Given the description of an element on the screen output the (x, y) to click on. 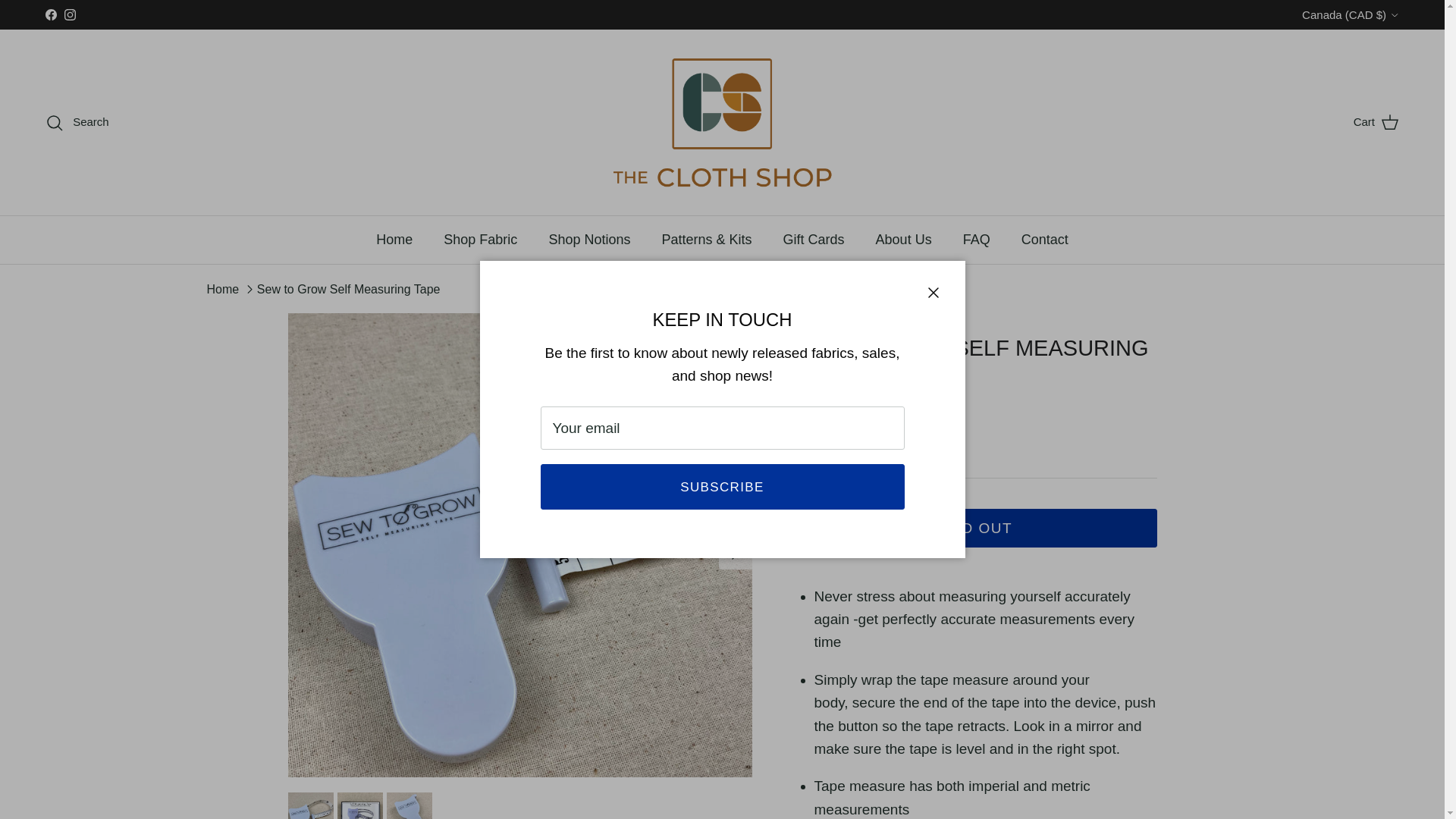
Search (77, 122)
Instagram (69, 14)
The Cloth Shop on Facebook (50, 14)
The Cloth Shop on Instagram (69, 14)
Cart (1376, 122)
Facebook (50, 14)
Home (394, 239)
Shop Fabric (480, 239)
The Cloth Shop (721, 122)
